Given the description of an element on the screen output the (x, y) to click on. 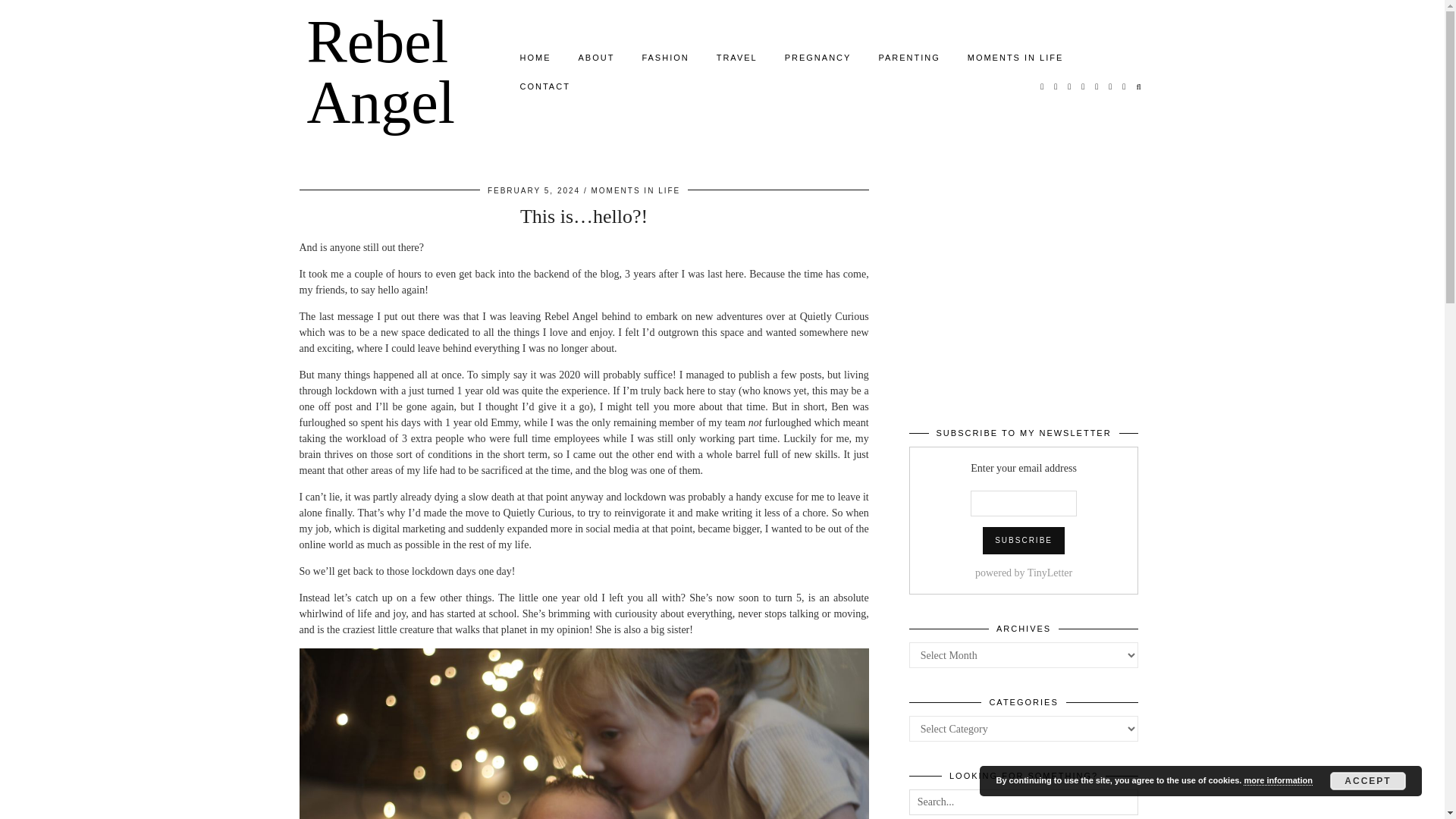
Subscribe (1023, 540)
